Given the description of an element on the screen output the (x, y) to click on. 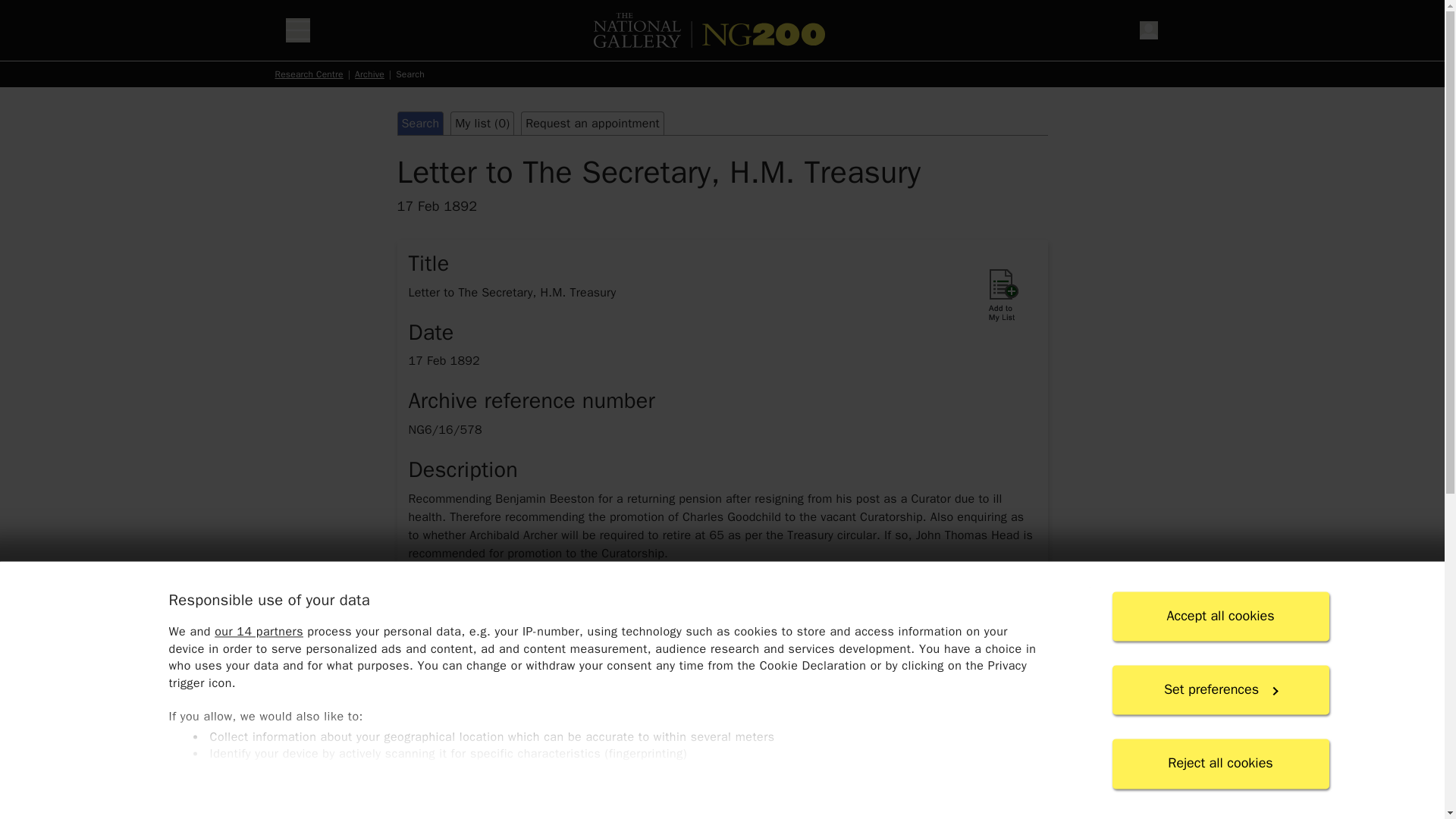
our 14 partners (258, 631)
details section (720, 774)
